Given the description of an element on the screen output the (x, y) to click on. 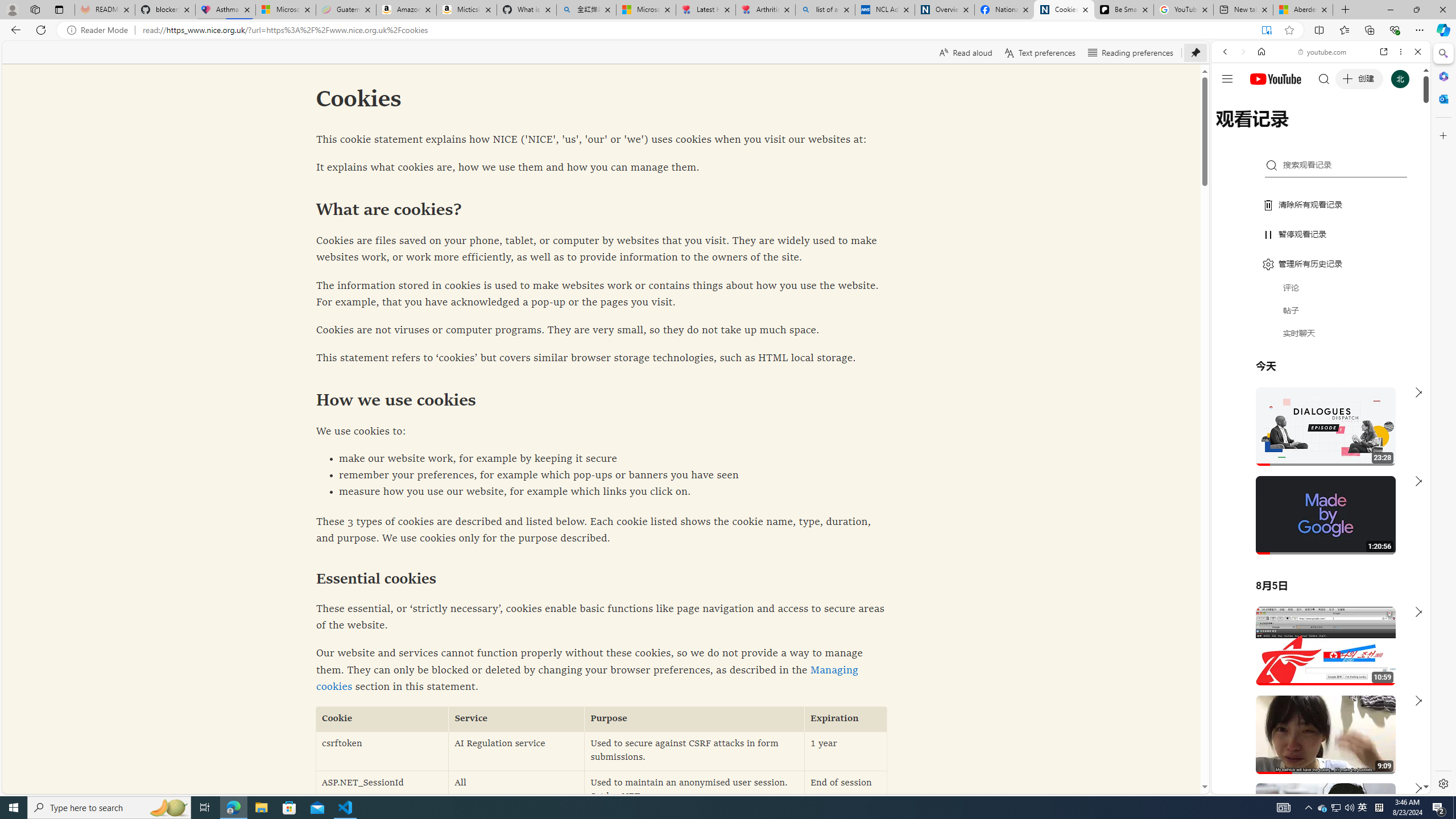
Used to maintain an anonymised user session. Set by .NET. (694, 790)
Read aloud (964, 52)
US[ju] (1249, 785)
Search videos from youtube.com (1299, 373)
Unpin toolbar (1195, 52)
Show More Music (1390, 310)
